Given the description of an element on the screen output the (x, y) to click on. 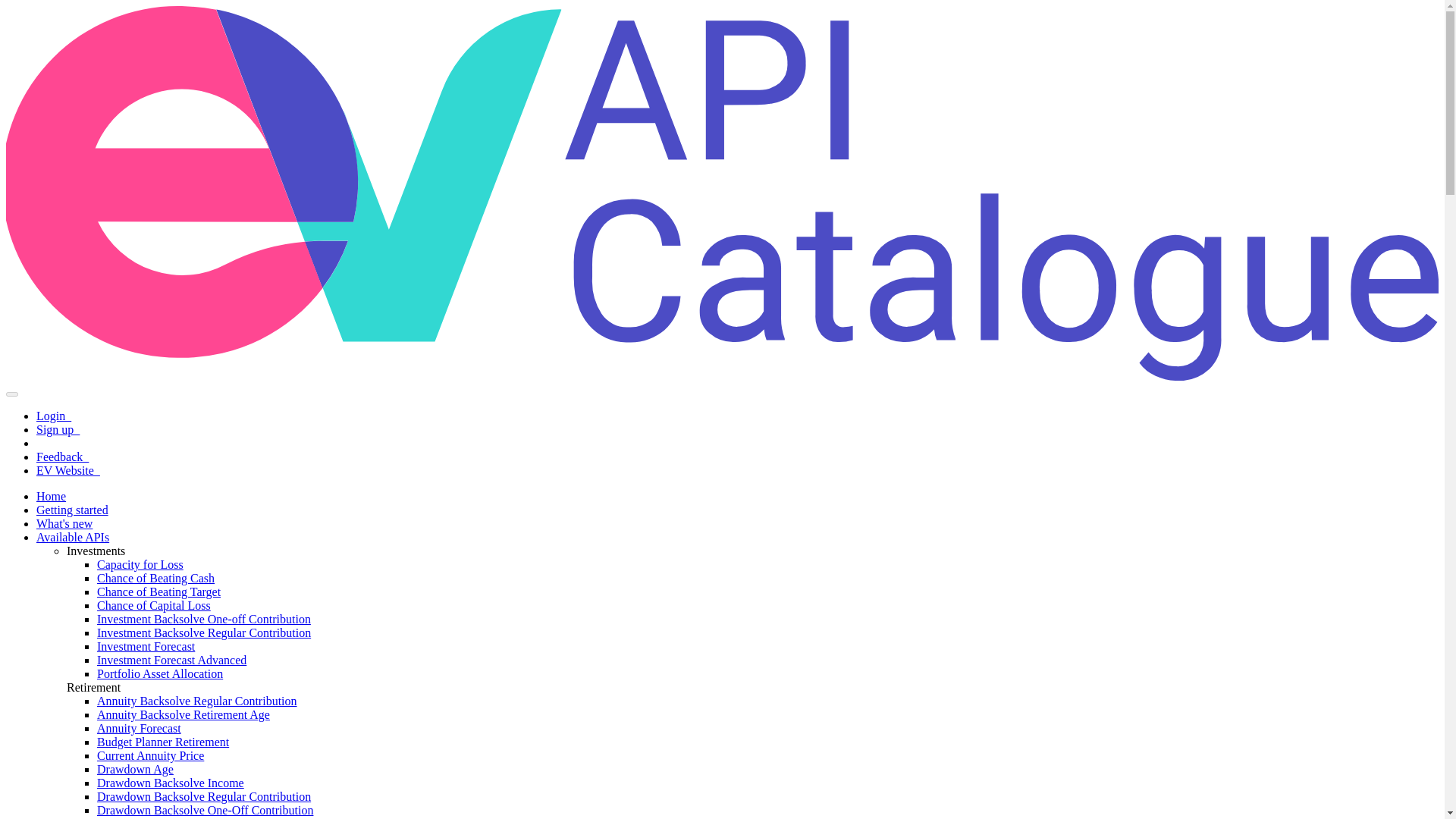
Chance of Beating Target (159, 591)
Drawdown Age (135, 768)
Investment Backsolve Regular Contribution (204, 632)
Current Annuity Price (150, 755)
Investment Forecast (146, 645)
Investment Forecast Advanced (171, 659)
Available APIs (72, 536)
Annuity Backsolve Retirement Age (183, 714)
What's new (64, 522)
Annuity Backsolve Regular Contribution (197, 700)
